Given the description of an element on the screen output the (x, y) to click on. 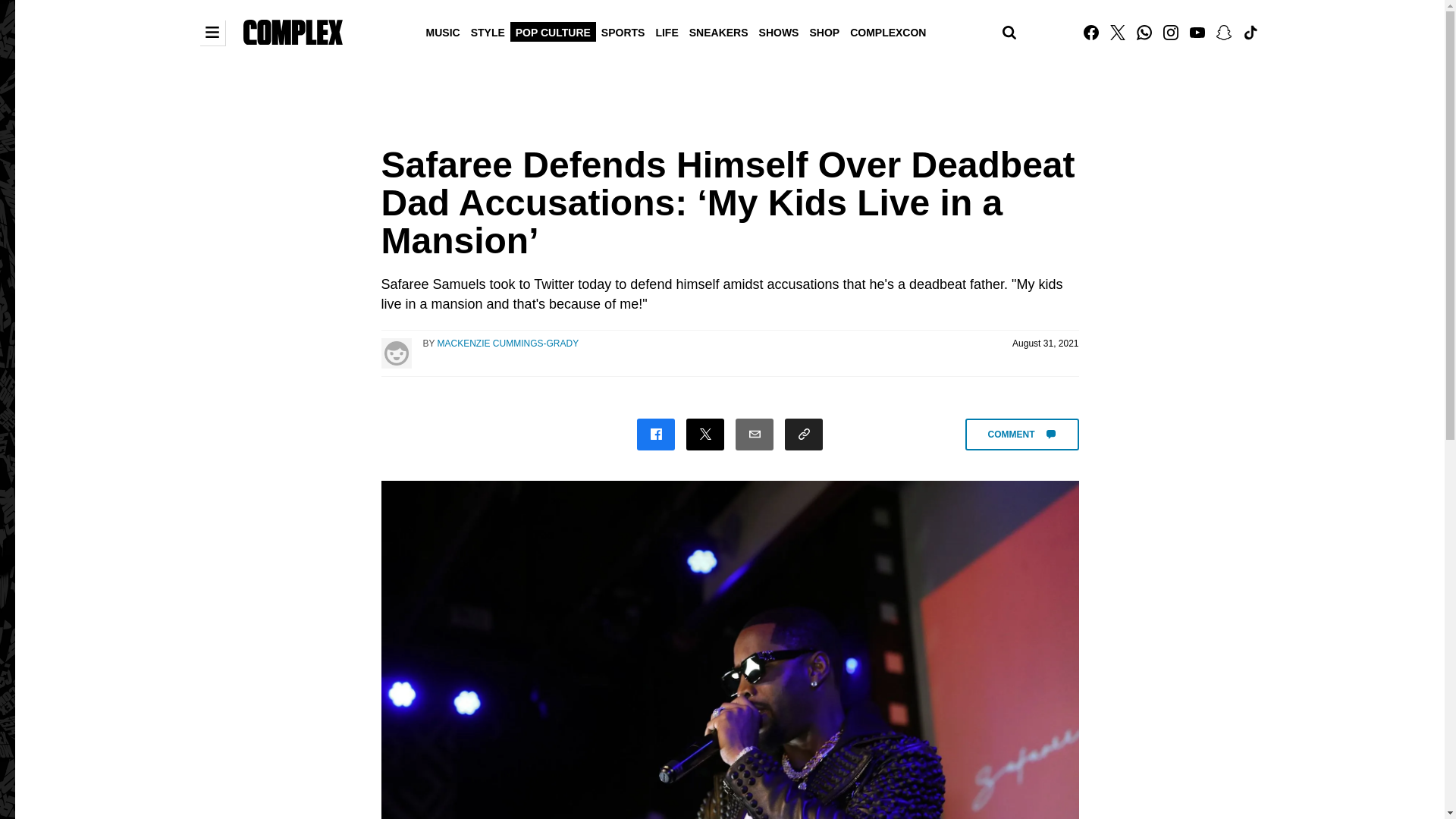
POP CULTURE (553, 30)
STYLE (488, 30)
LIFE (665, 30)
SHOP (823, 30)
SPORTS (622, 30)
MUSIC (442, 30)
SNEAKERS (719, 30)
COMPLEXCON (887, 30)
SHOWS (779, 30)
